Given the description of an element on the screen output the (x, y) to click on. 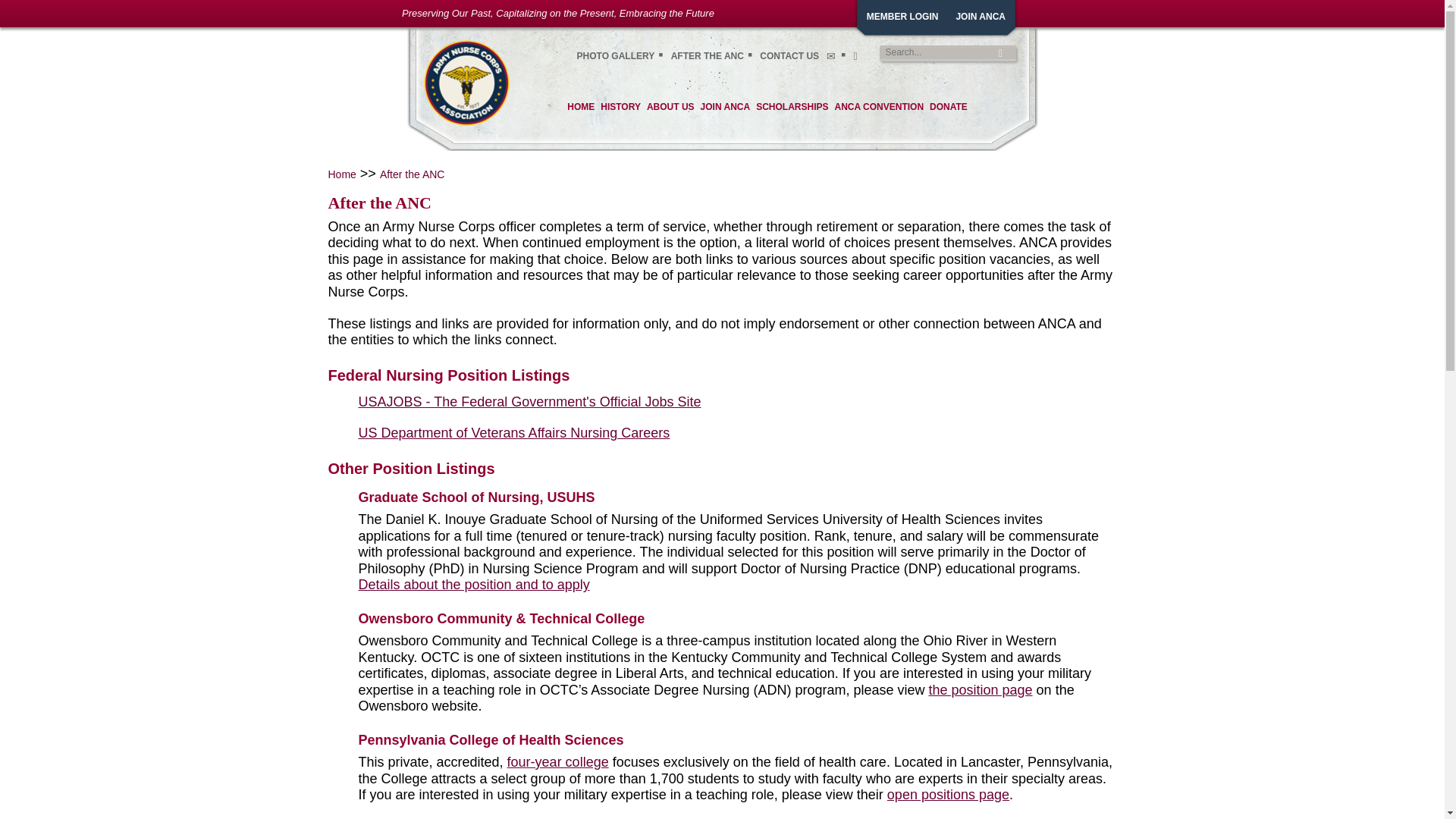
The Army Nurse Corps Association, Inc. (467, 81)
JOIN ANCA (725, 109)
CONTACT US (789, 55)
HISTORY (619, 109)
AFTER THE ANC (707, 55)
ABOUT US (670, 109)
JOIN ANCA (980, 16)
HOME (580, 109)
PHOTO GALLERY (615, 55)
MEMBER LOGIN (902, 16)
